Given the description of an element on the screen output the (x, y) to click on. 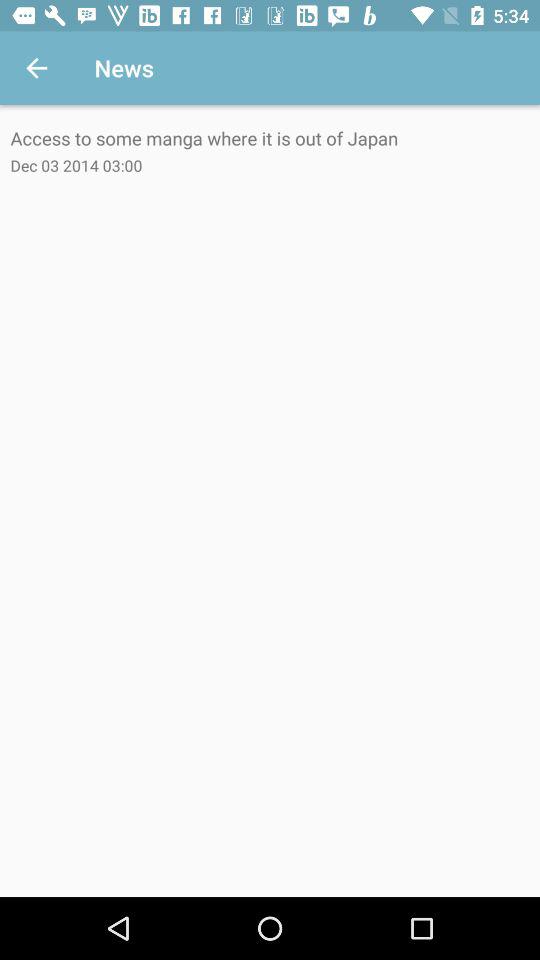
choose the icon to the left of the news item (36, 68)
